Given the description of an element on the screen output the (x, y) to click on. 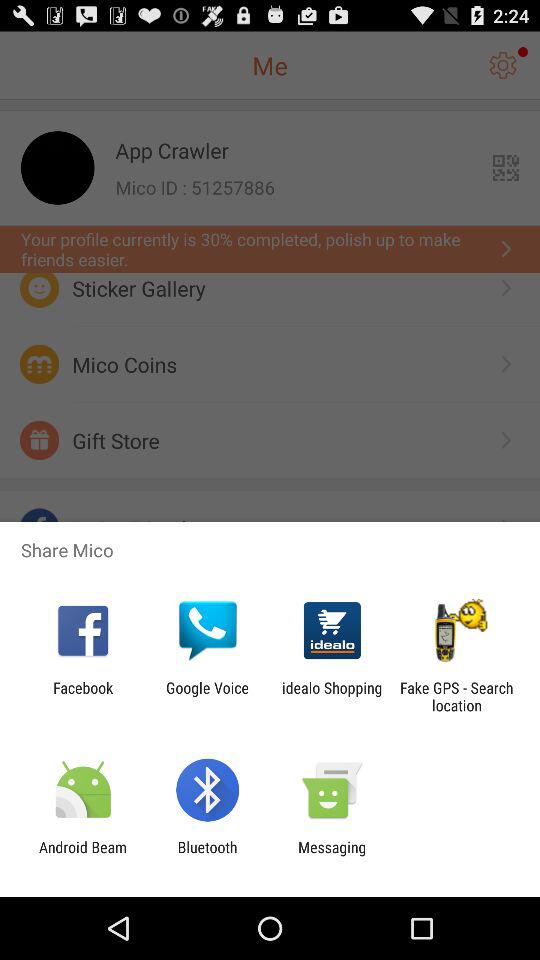
launch the messaging item (332, 856)
